Given the description of an element on the screen output the (x, y) to click on. 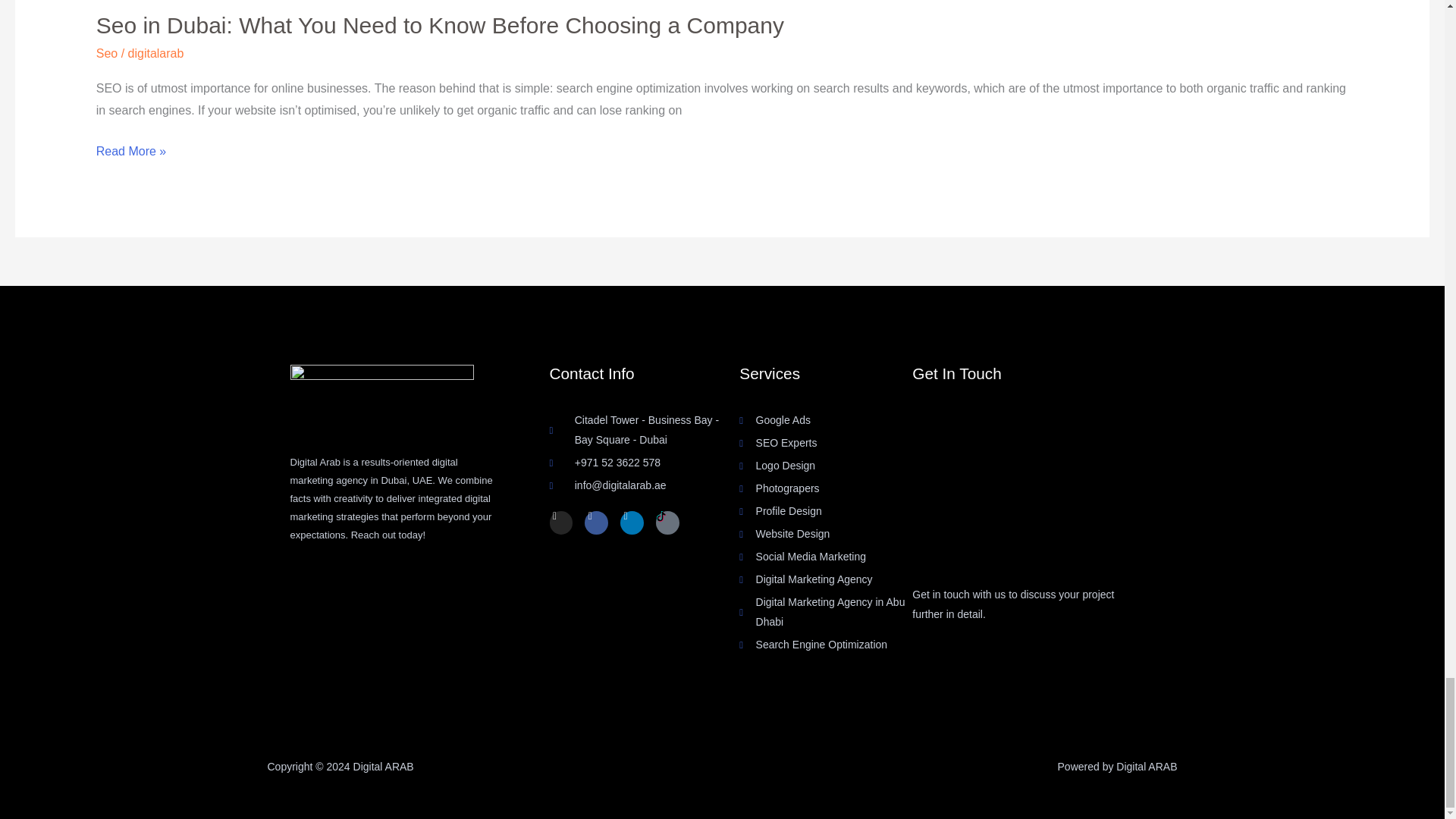
View all posts by digitalarab (156, 52)
